Given the description of an element on the screen output the (x, y) to click on. 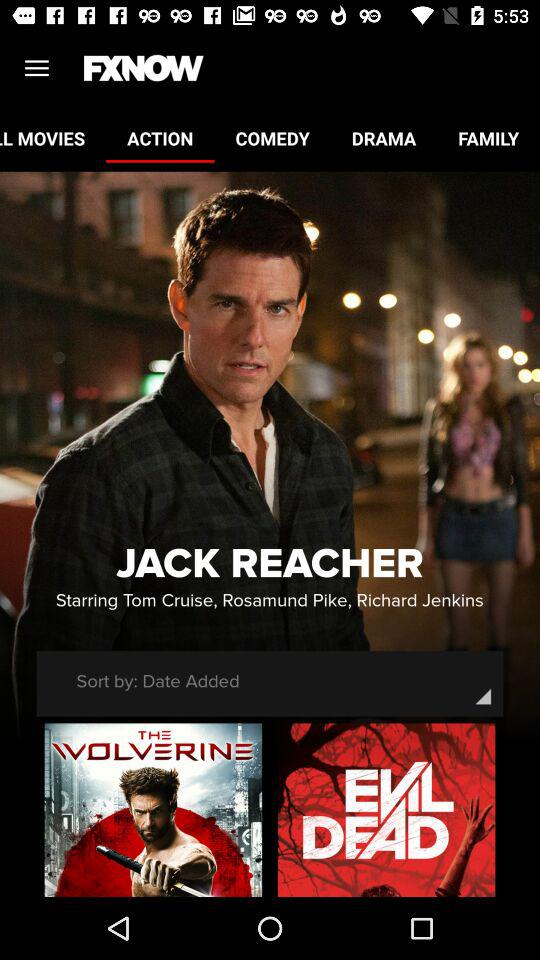
flip to the starring tom cruise (269, 600)
